Given the description of an element on the screen output the (x, y) to click on. 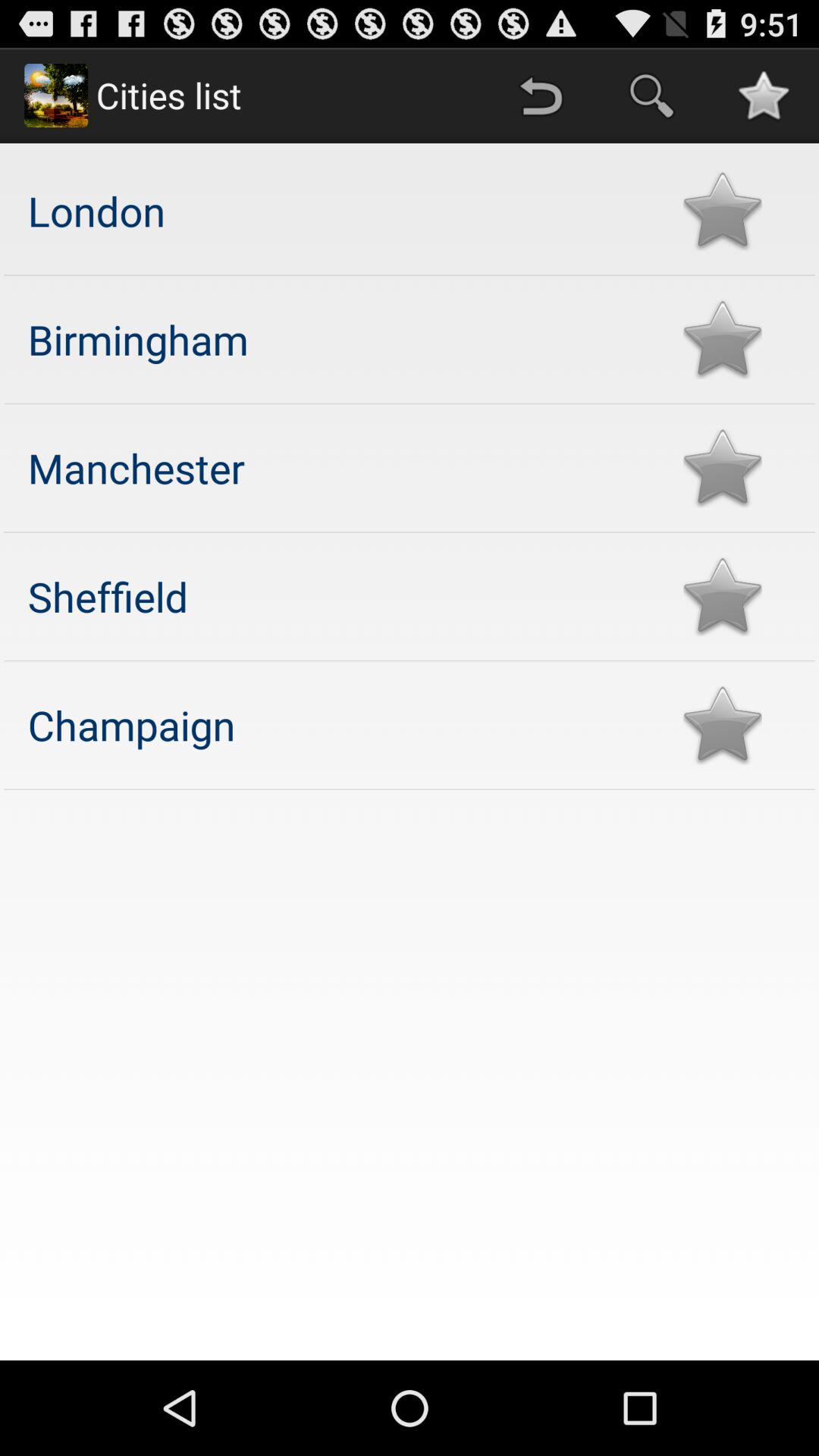
rating review (722, 210)
